Given the description of an element on the screen output the (x, y) to click on. 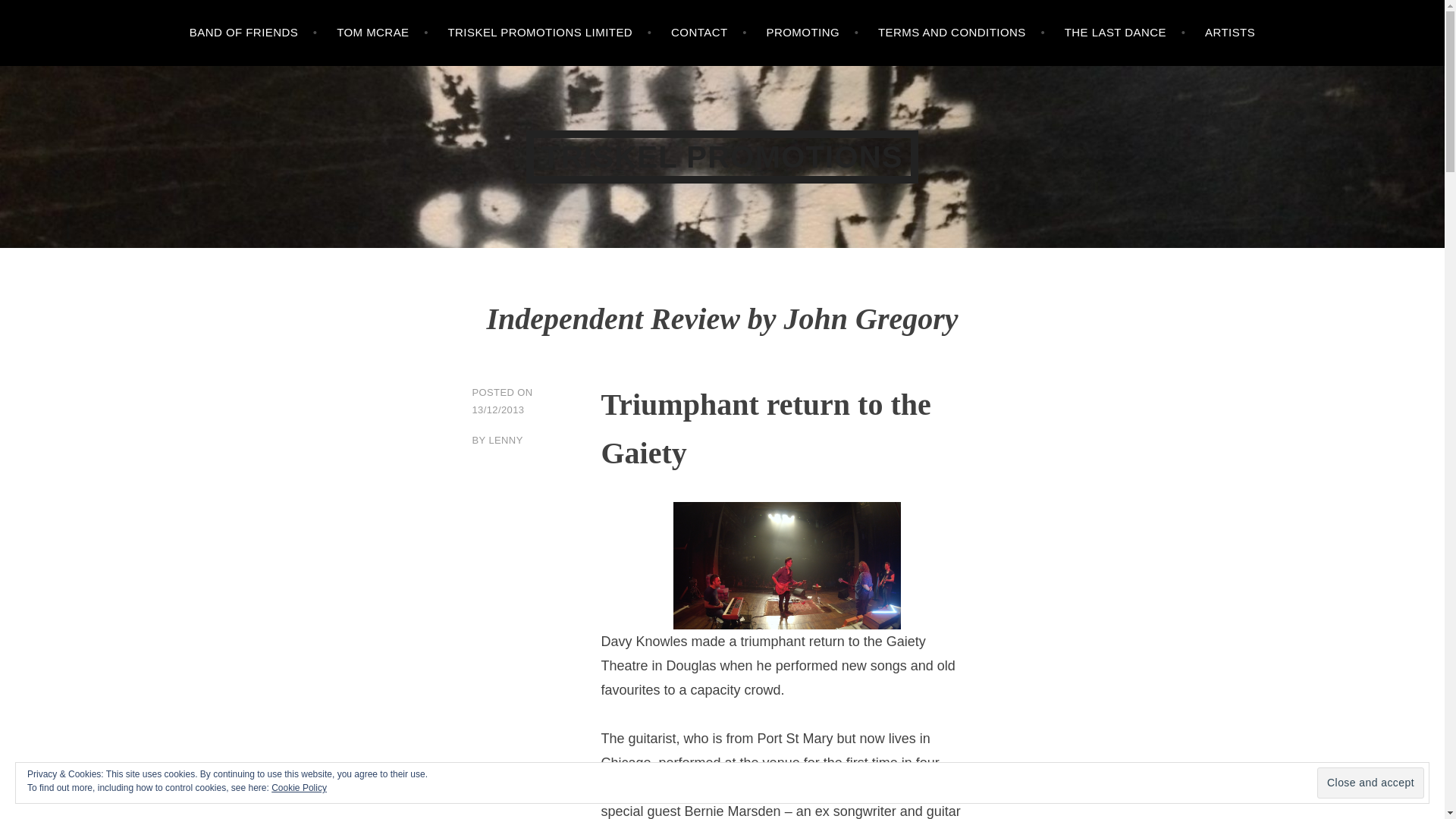
TOM MCRAE (382, 32)
PROMOTING (812, 32)
TERMS AND CONDITIONS (961, 32)
TRISKEL PROMOTIONS LIMITED (548, 32)
THE LAST DANCE (1125, 32)
CONTACT (708, 32)
BAND OF FRIENDS (253, 32)
Close and accept (1370, 782)
ARTISTS (1230, 32)
